Given the description of an element on the screen output the (x, y) to click on. 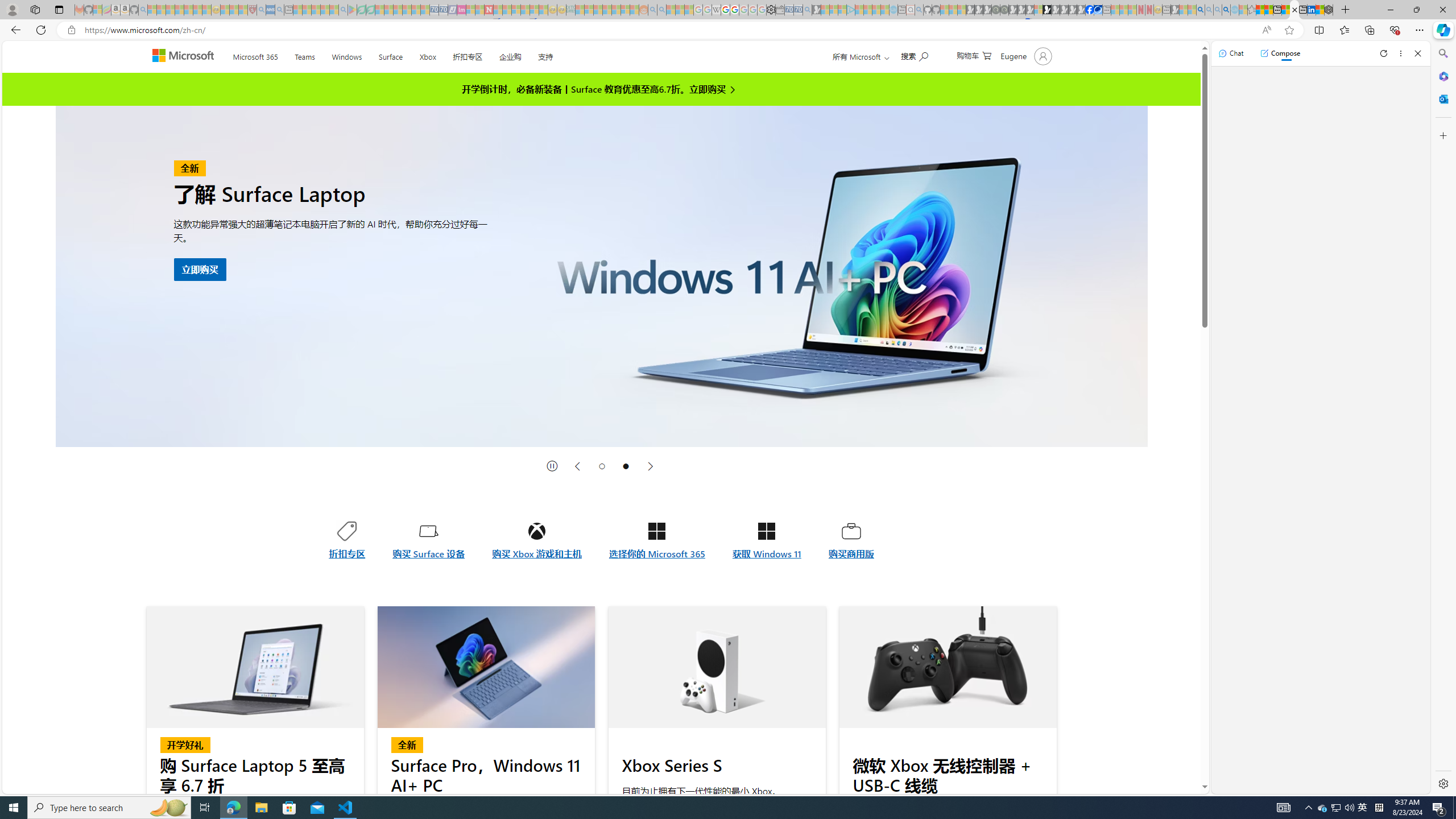
Jobs - lastminute.com Investor Portal - Sleeping (461, 9)
Chat (1230, 52)
Favorites - Sleeping (1251, 9)
Teams (304, 54)
Microsoft Start - Sleeping (876, 9)
list of asthma inhalers uk - Search - Sleeping (260, 9)
The Weather Channel - MSN - Sleeping (170, 9)
Side bar (1443, 418)
